Given the description of an element on the screen output the (x, y) to click on. 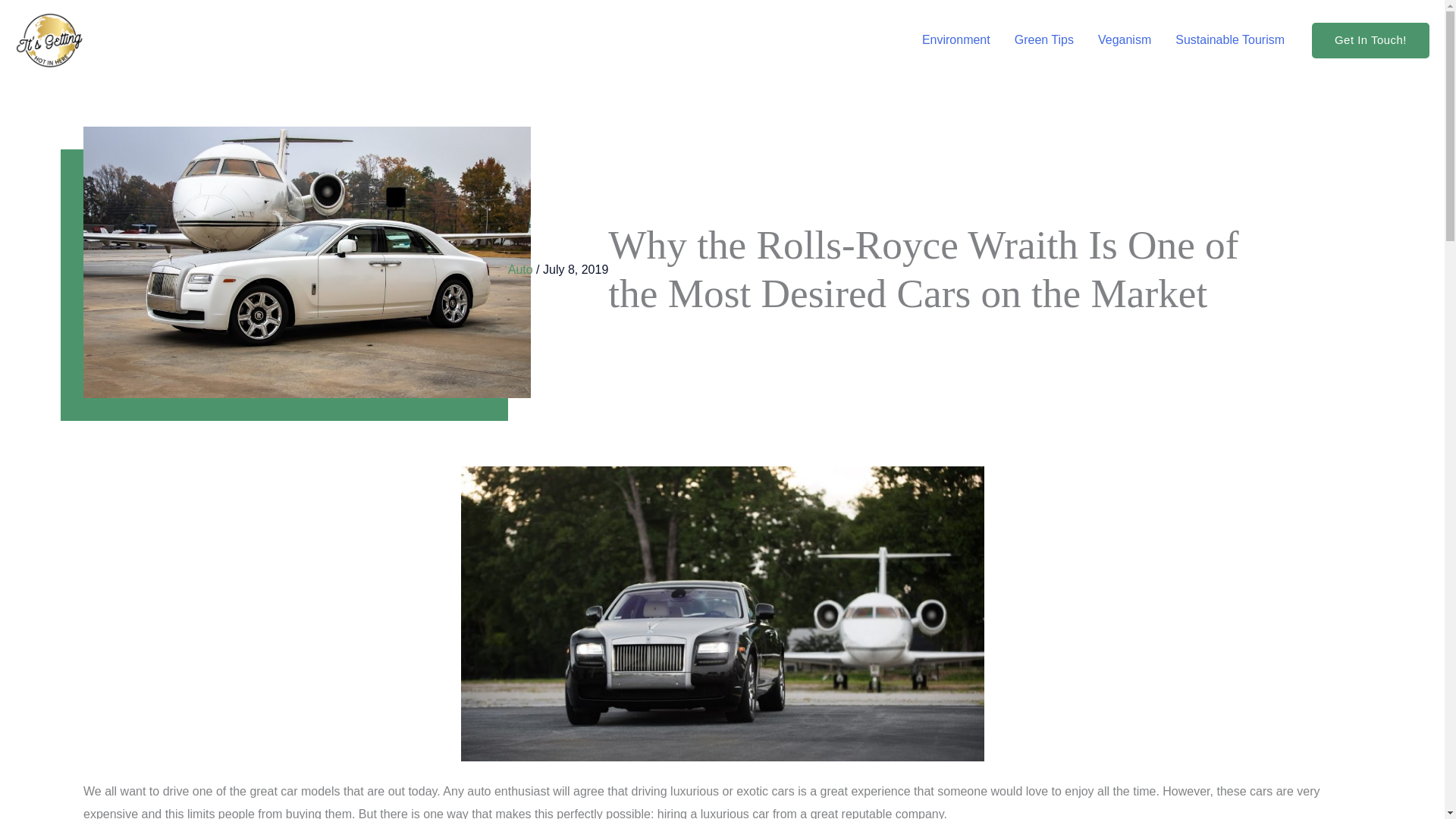
Green Tips (1044, 40)
Veganism (1124, 40)
Environment (956, 40)
Sustainable Tourism (1230, 40)
Auto (520, 269)
Get In Touch! (1370, 40)
